Given the description of an element on the screen output the (x, y) to click on. 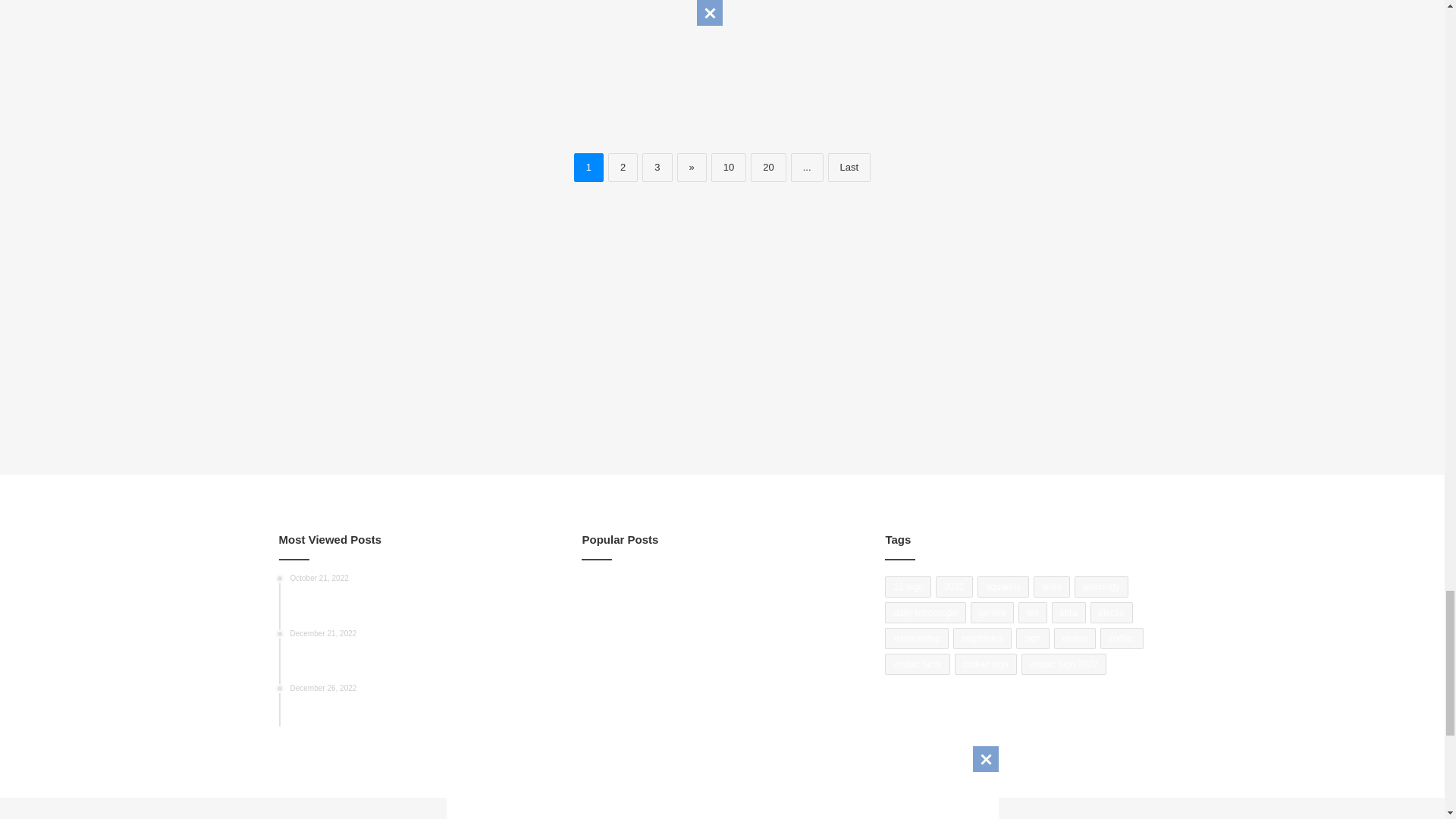
10 (728, 167)
Last (849, 167)
2 (622, 167)
20 (768, 167)
3 (656, 167)
